Given the description of an element on the screen output the (x, y) to click on. 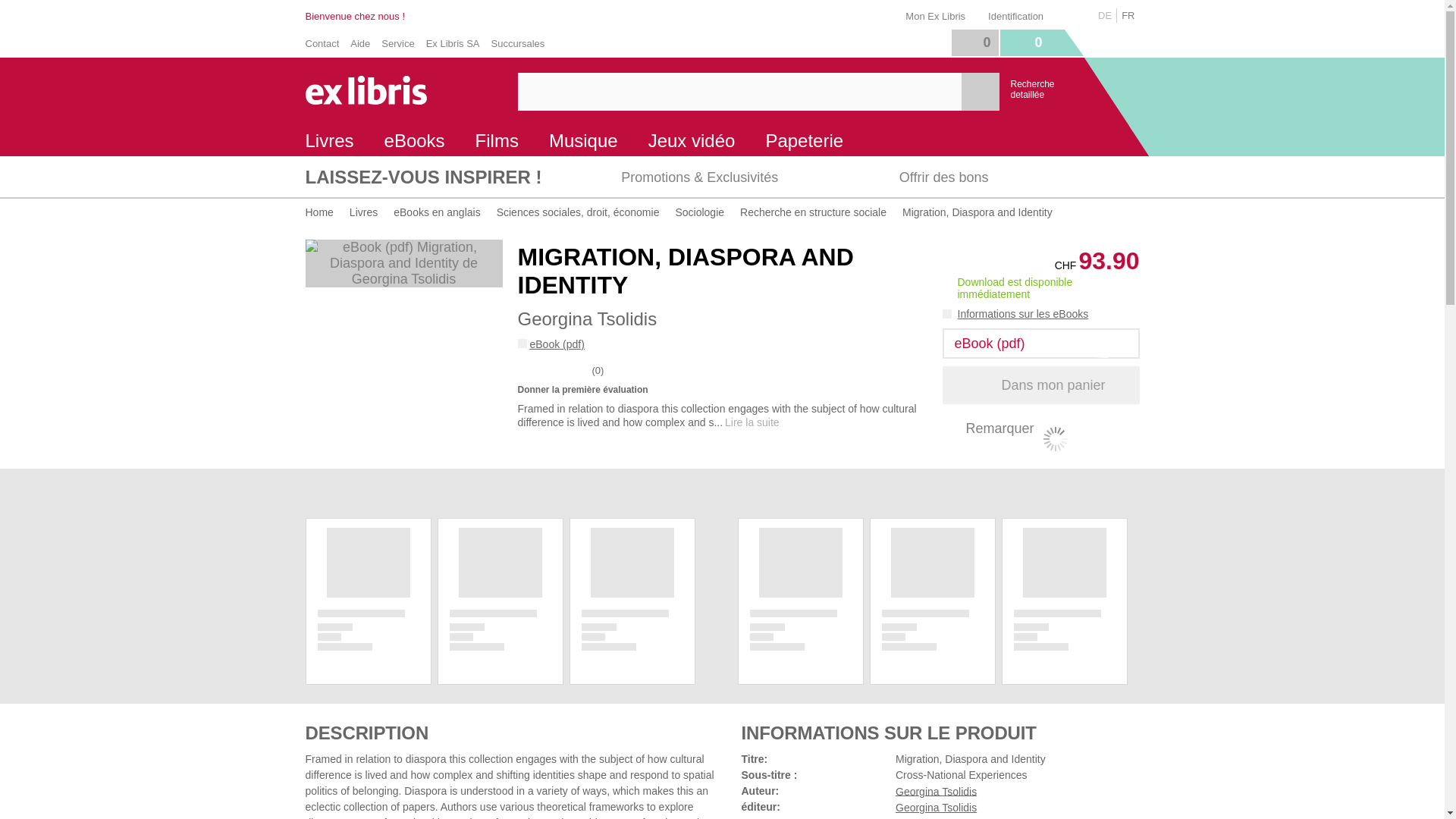
Dans mon panier (1040, 385)
Films (497, 141)
Recherche en structure sociale (812, 212)
Remarquer (987, 428)
Musique (583, 141)
Liste de souhaits (974, 42)
Offrir des bons (1000, 177)
Informations sur les eBooks (1014, 313)
eBooks en anglais (436, 212)
Identification (1019, 13)
